Given the description of an element on the screen output the (x, y) to click on. 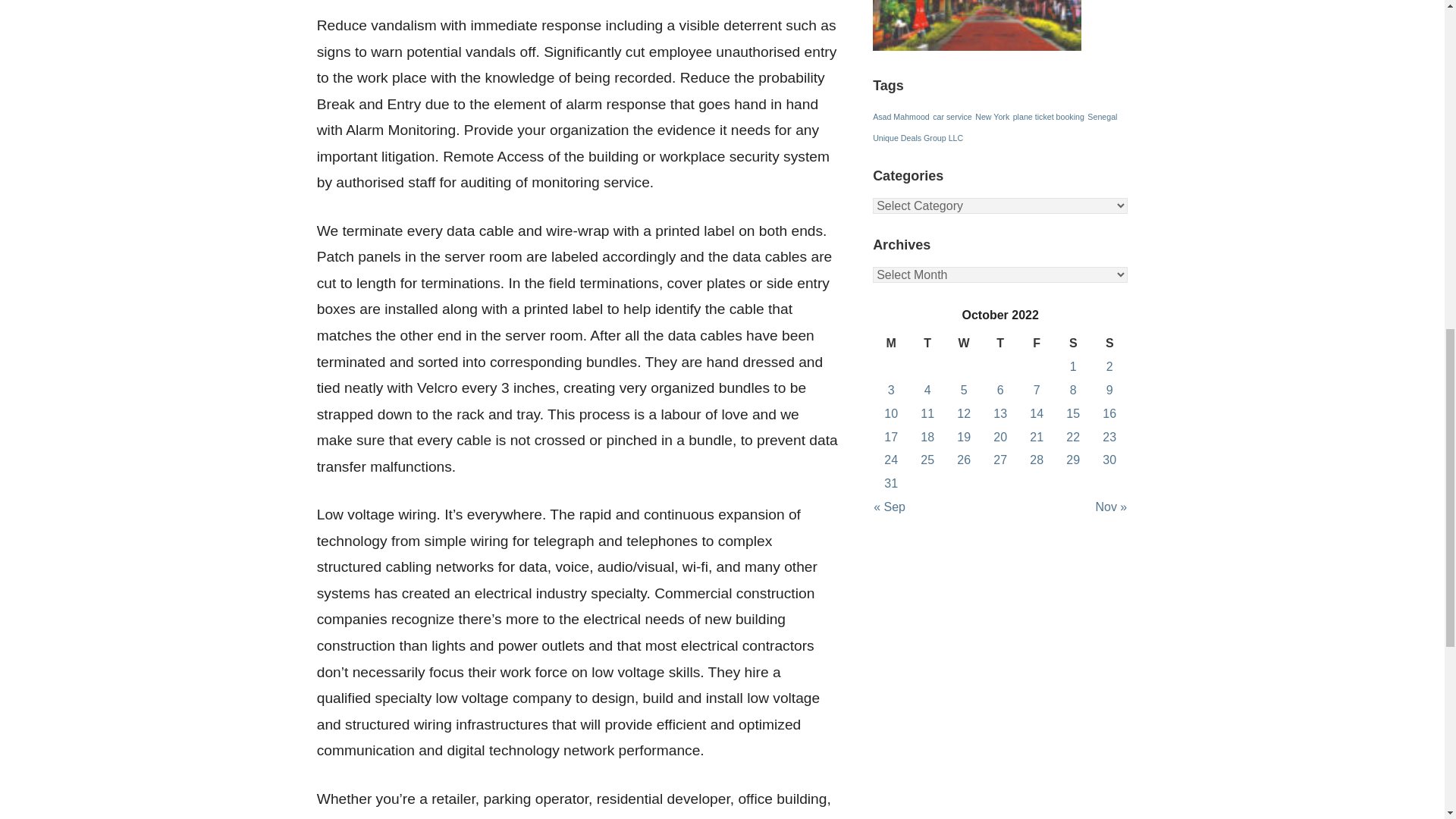
11 (927, 413)
Wednesday (962, 343)
plane ticket booking (1048, 116)
Sunday (1108, 343)
New York (992, 116)
Thursday (999, 343)
Asad Mahmood (901, 116)
Monday (890, 343)
Unique Deals Group LLC (917, 137)
Senegal (1101, 116)
